Given the description of an element on the screen output the (x, y) to click on. 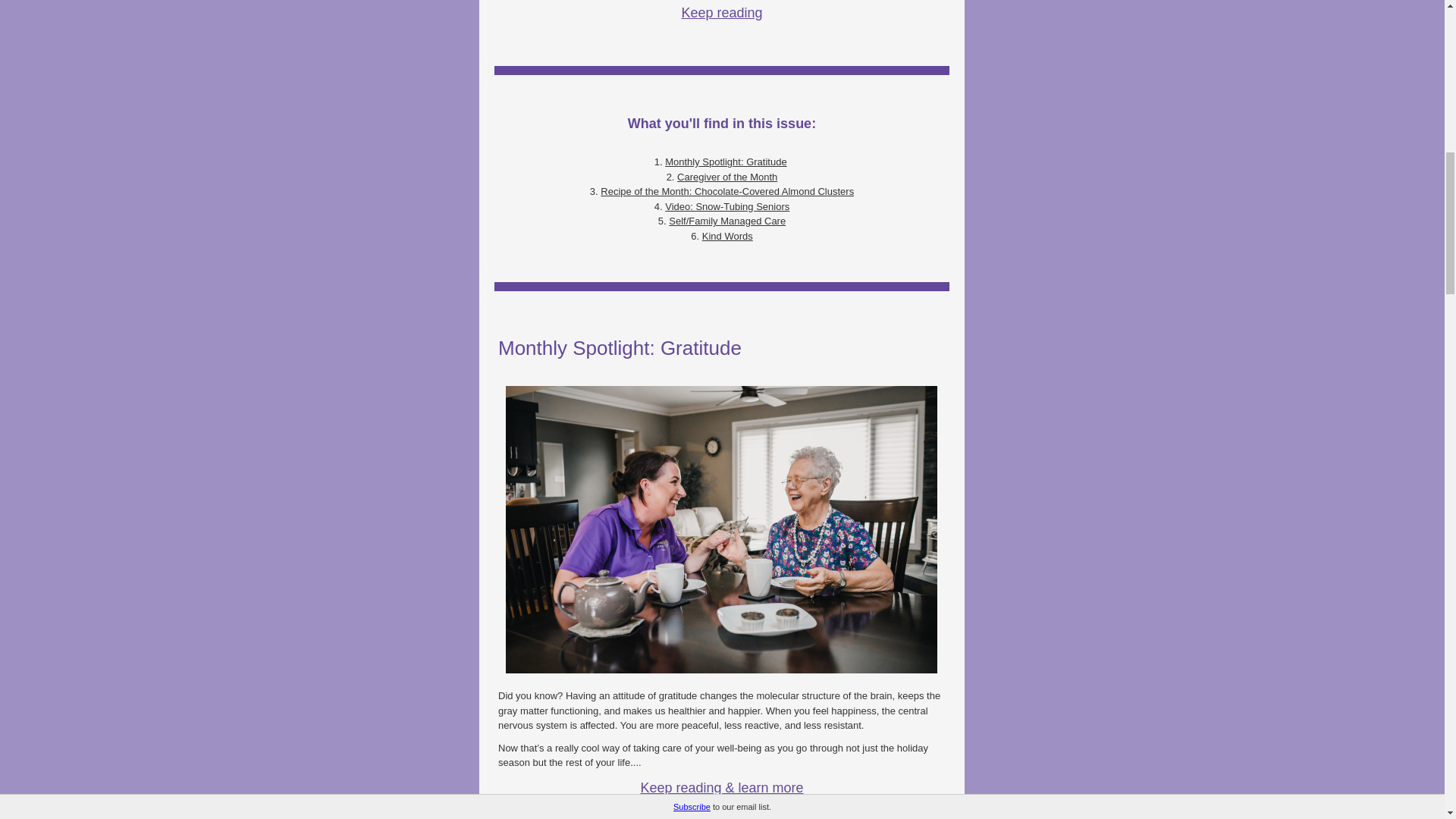
Monthly Spotlight: Gratitude (725, 161)
Caregiver of the Month (727, 176)
Recipe of the Month: Chocolate-Covered Almond Clusters (726, 191)
Kind Words (726, 235)
Video: Snow-Tubing Seniors (727, 205)
Keep reading (721, 12)
